Given the description of an element on the screen output the (x, y) to click on. 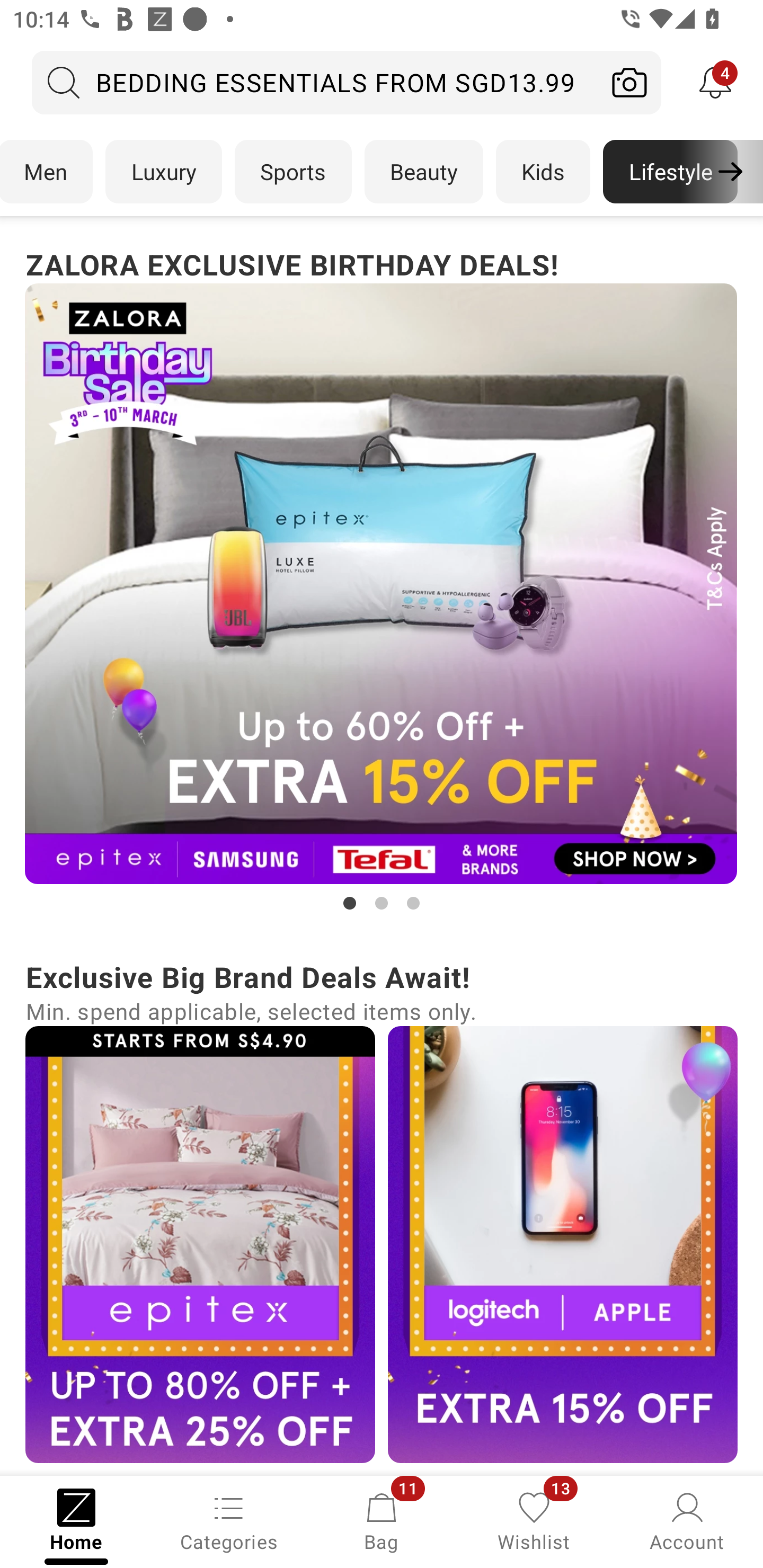
BEDDING ESSENTIALS FROM SGD13.99 (314, 82)
Men (46, 171)
Luxury (163, 171)
Sports (293, 171)
Beauty (423, 171)
Kids (542, 171)
Lifestyle (669, 171)
ZALORA EXCLUSIVE BIRTHDAY DEALS! Campaign banner (381, 578)
Campaign banner (381, 583)
Campaign banner (200, 1243)
Campaign banner (562, 1243)
Categories (228, 1519)
Bag, 11 new notifications Bag (381, 1519)
Wishlist, 13 new notifications Wishlist (533, 1519)
Account (686, 1519)
